Given the description of an element on the screen output the (x, y) to click on. 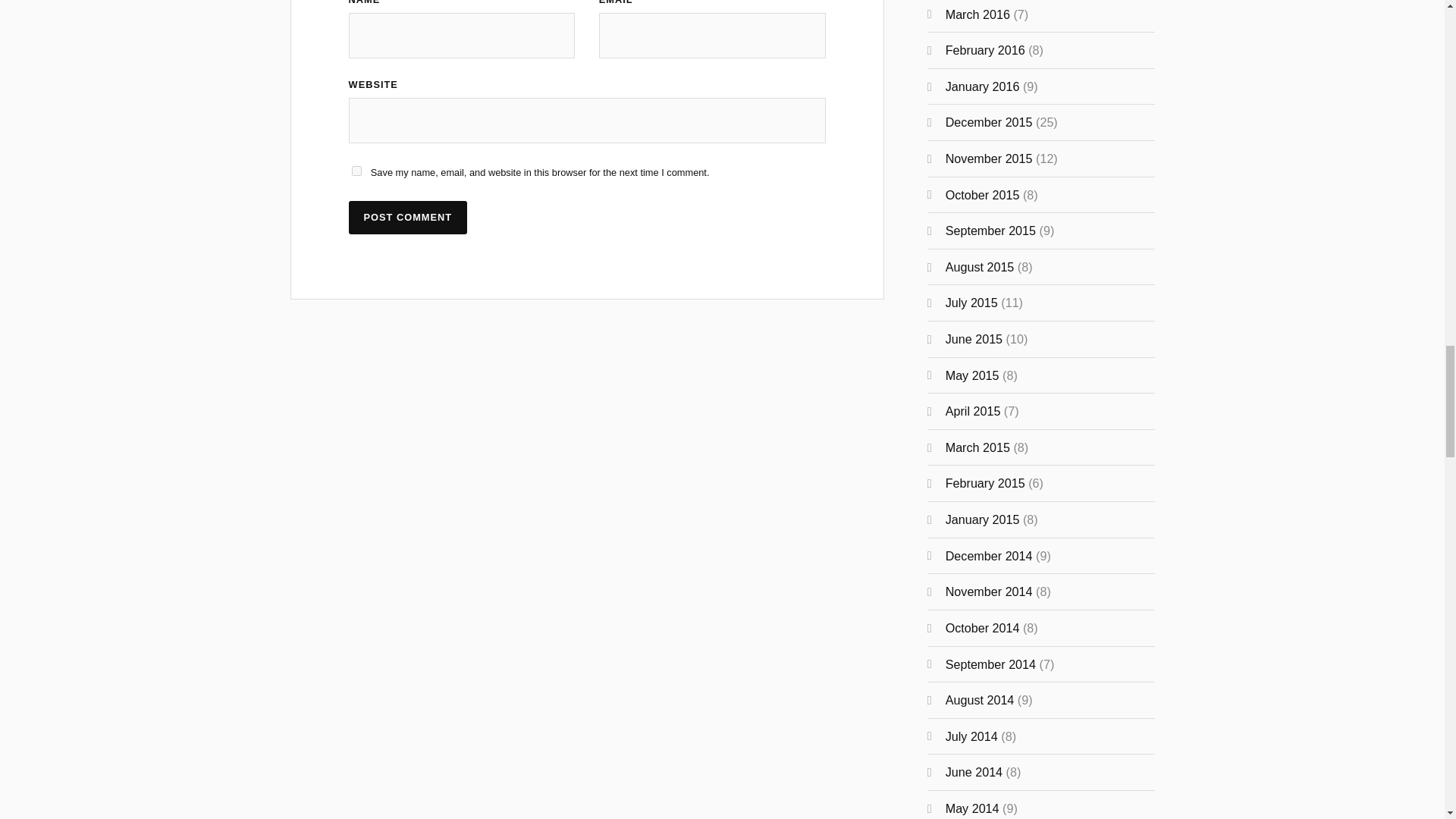
yes (356, 171)
Post Comment (408, 217)
Post Comment (408, 217)
